Given the description of an element on the screen output the (x, y) to click on. 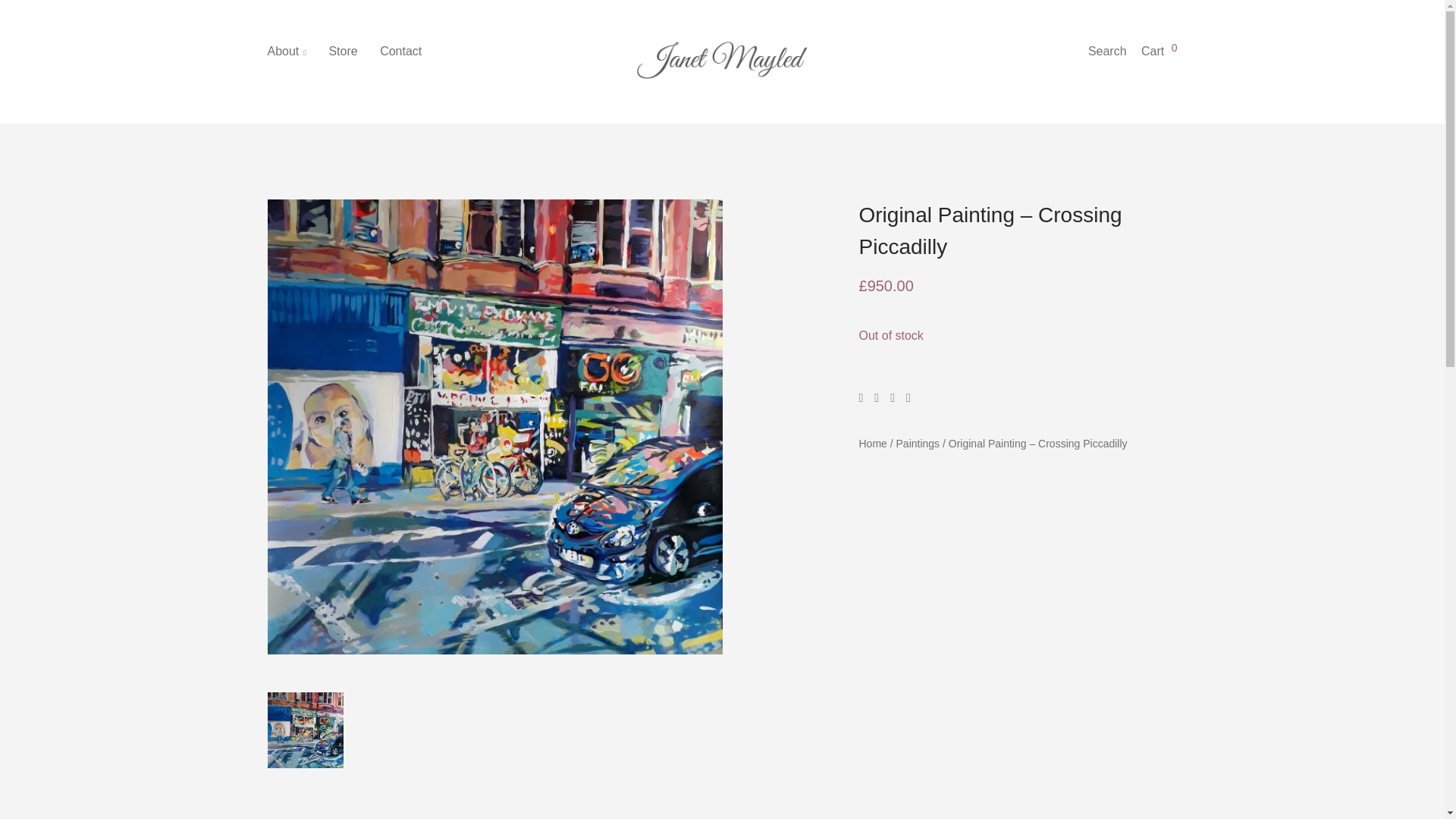
Cart 0 (1158, 51)
Store (352, 51)
Home (872, 443)
About (295, 51)
Crossing Piccadilly (304, 730)
Contact (410, 51)
Paintings (918, 443)
